Given the description of an element on the screen output the (x, y) to click on. 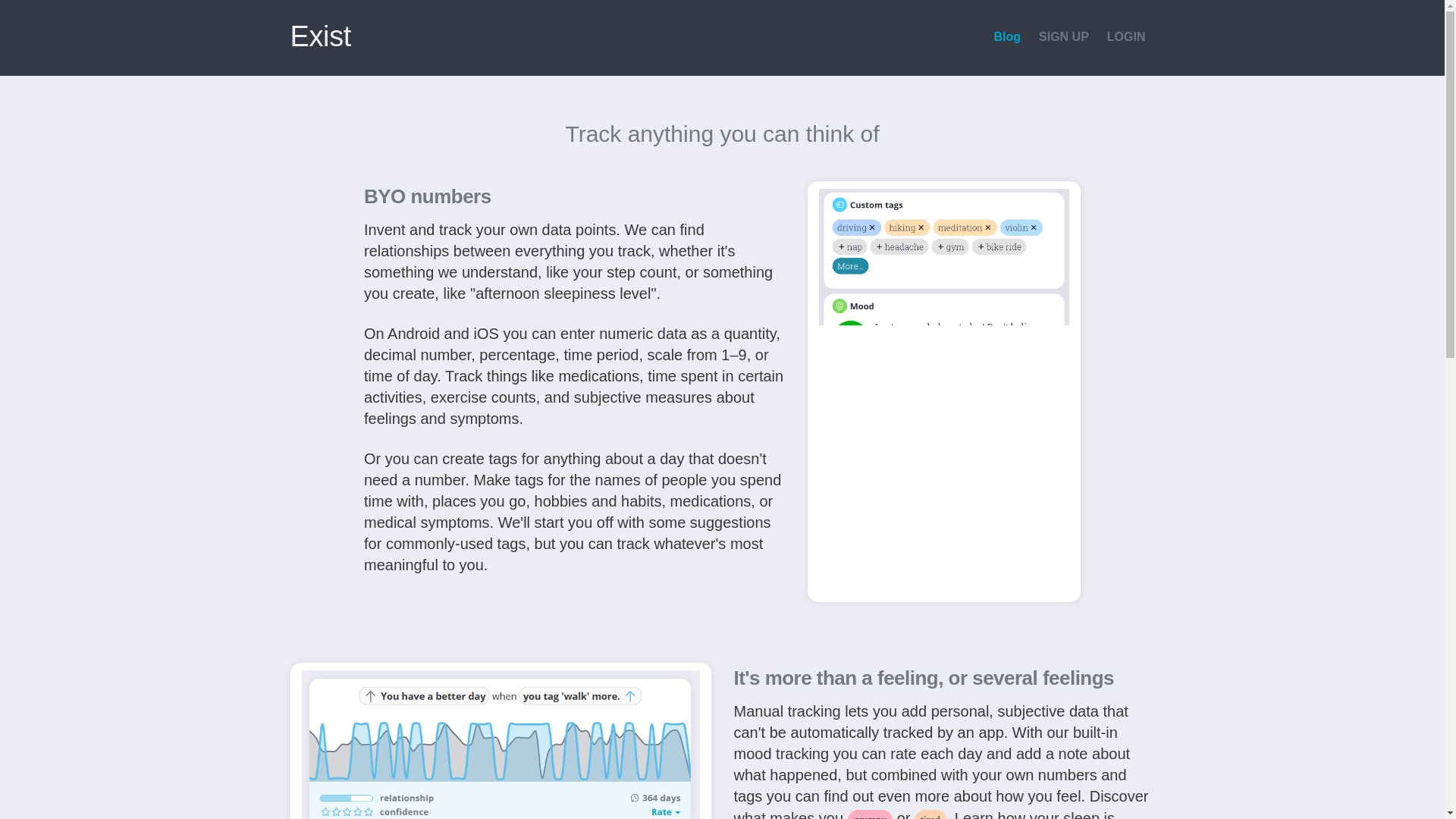
SIGN UP (1063, 37)
Exist (319, 36)
LOGIN (1125, 37)
